Given the description of an element on the screen output the (x, y) to click on. 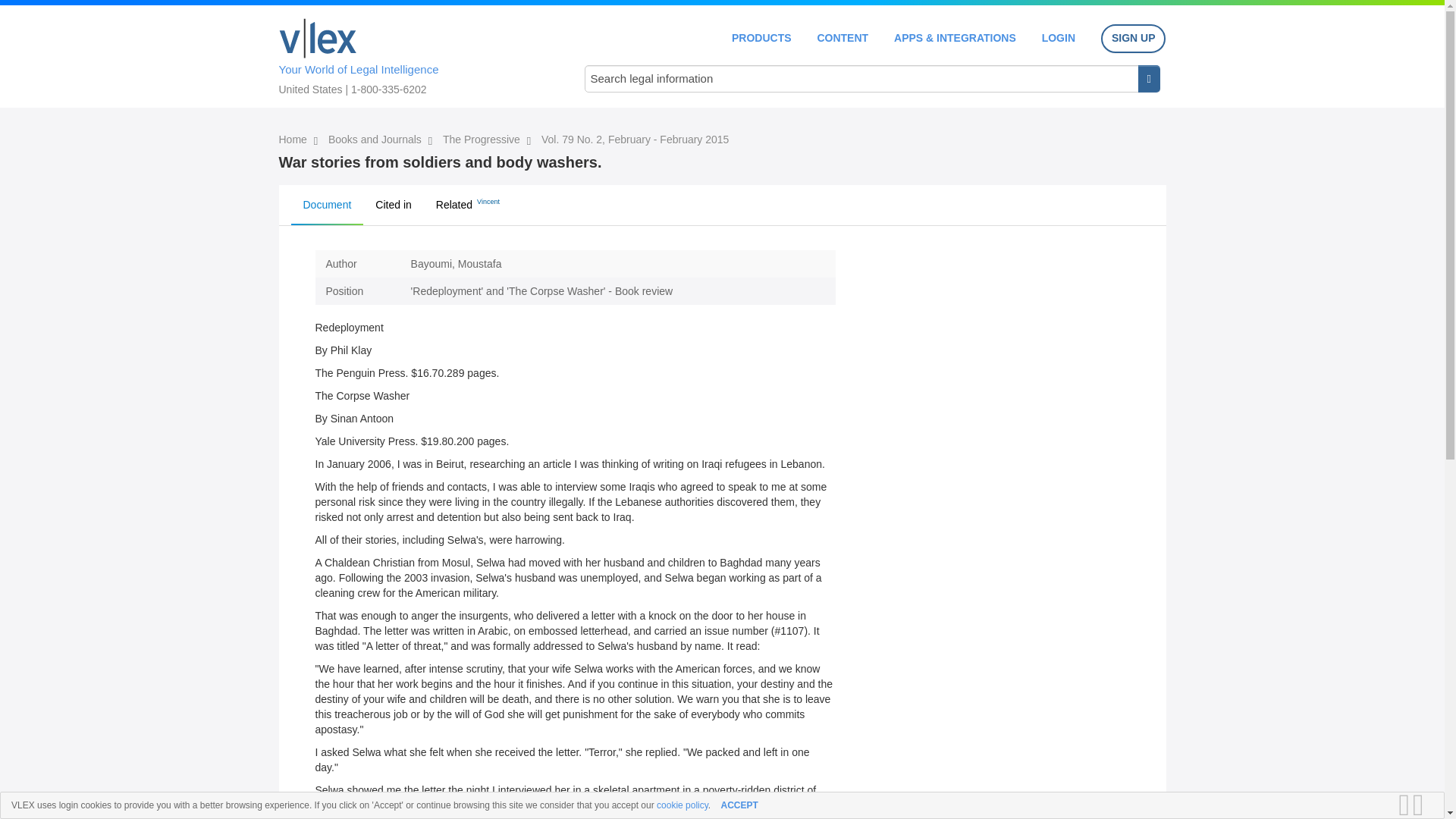
Vol. 79 No. 2, February - February 2015 (635, 139)
CLOSE (1422, 805)
ACCEPT (739, 805)
The Progressive (482, 139)
PRODUCTS (762, 37)
SIGN UP (1133, 38)
cookie policy (681, 805)
LOGIN (1058, 37)
Home (317, 38)
CONTENT (841, 37)
Your World of Legal Intelligence (416, 53)
Home (294, 139)
Books and Journals (377, 139)
